Given the description of an element on the screen output the (x, y) to click on. 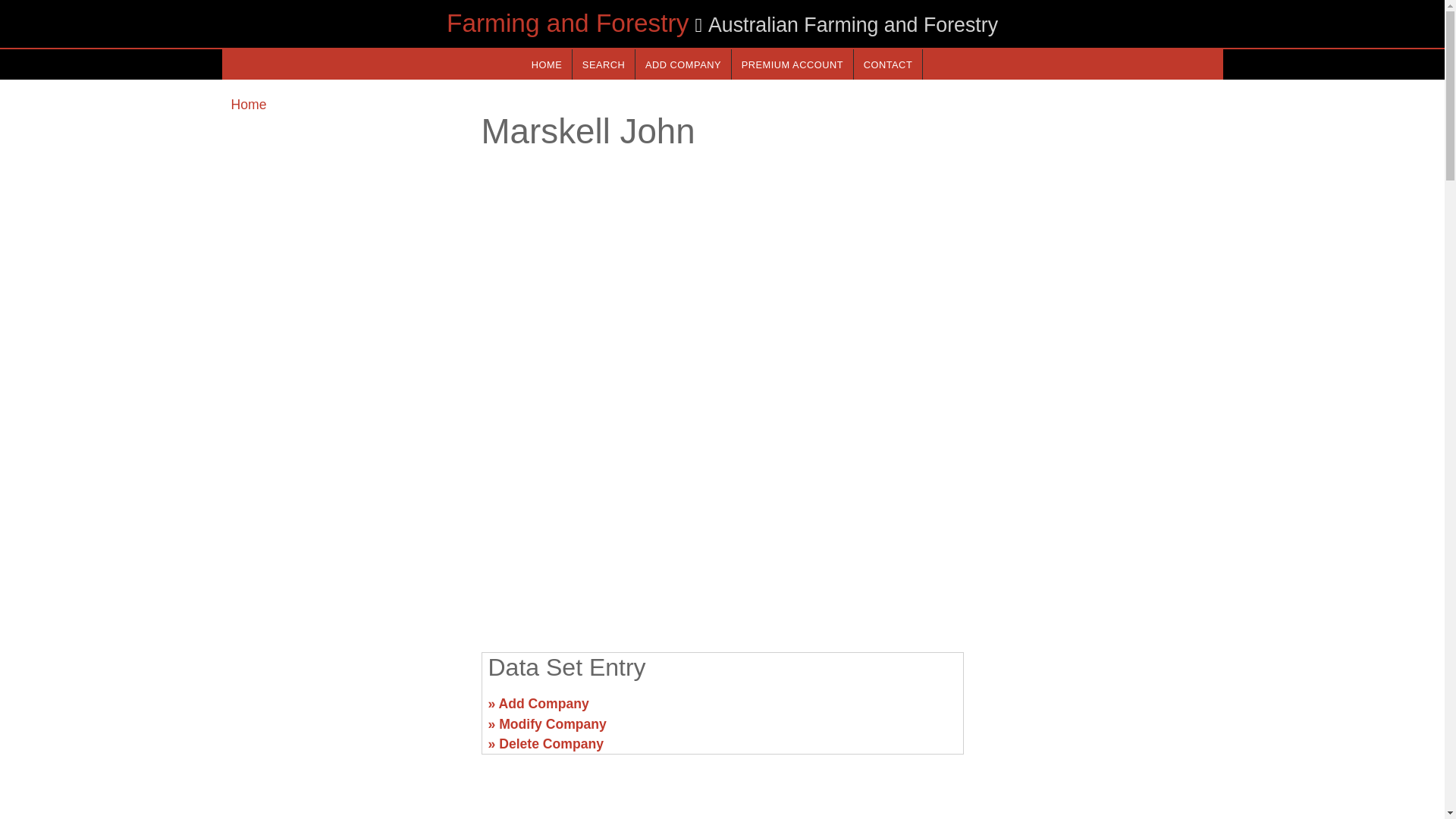
Add a new company (682, 64)
Advertisement (721, 522)
HOME (546, 64)
CONTACT (887, 64)
Advertisement (346, 710)
PREMIUM ACCOUNT (792, 64)
Home (248, 104)
ADD COMPANY (682, 64)
Search in this webseite. (603, 64)
